Given the description of an element on the screen output the (x, y) to click on. 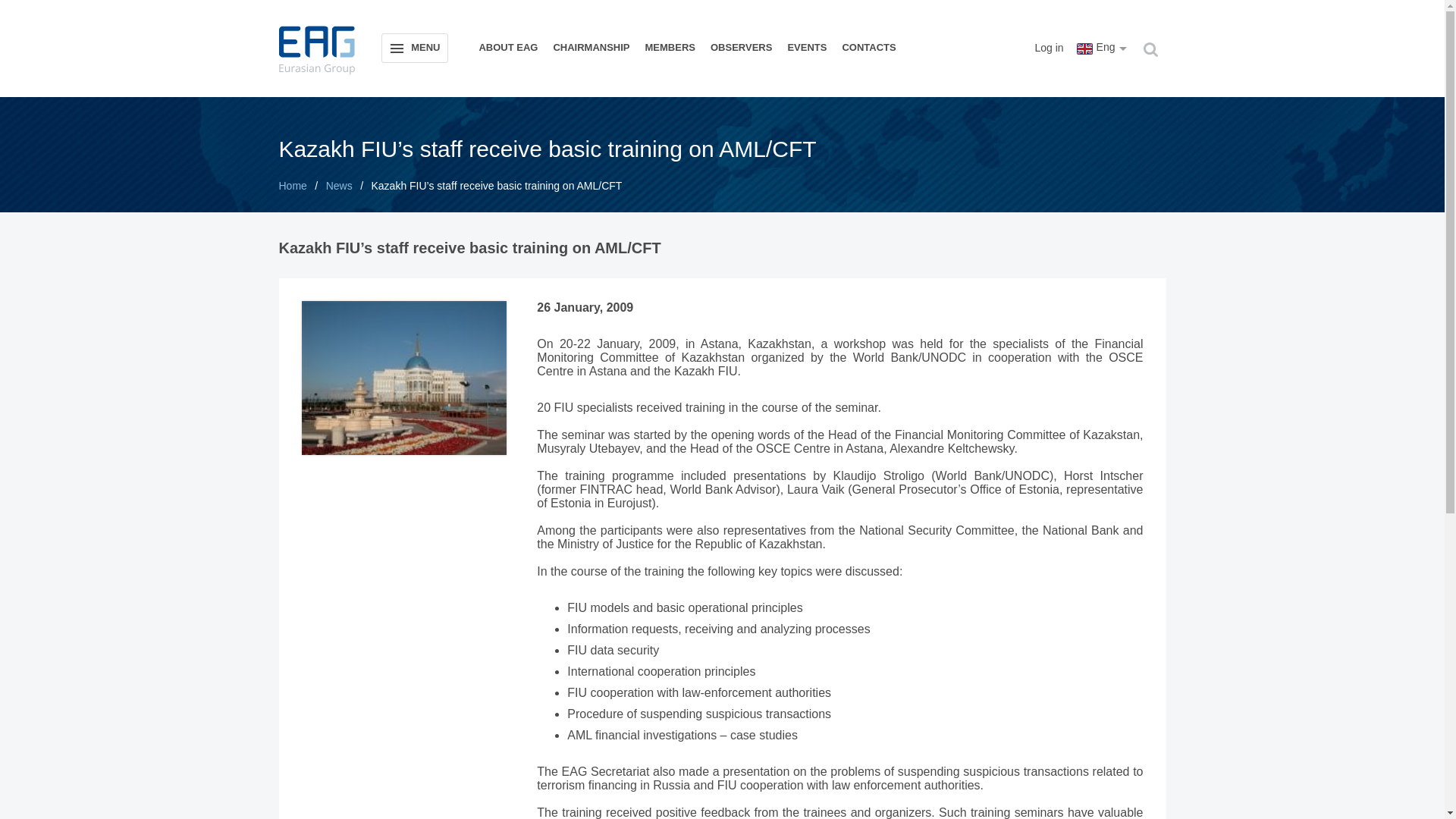
Home (293, 185)
News (339, 185)
EVENTS (806, 47)
ABOUT EAG (507, 47)
OBSERVERS (740, 47)
MENU (414, 48)
MEMBERS (670, 47)
CONTACTS (868, 47)
CHAIRMANSHIP (590, 47)
Log in (1042, 47)
